Given the description of an element on the screen output the (x, y) to click on. 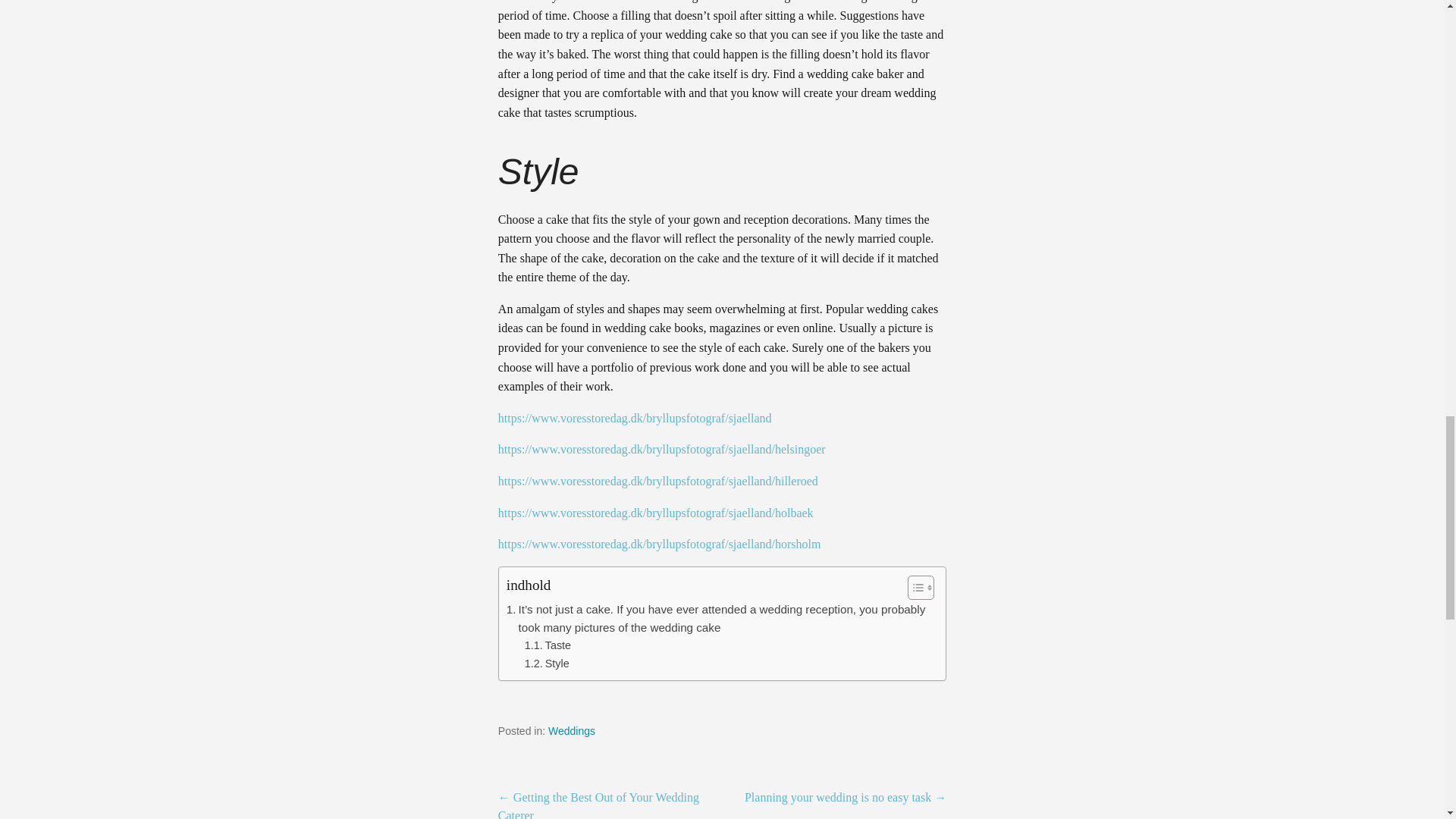
Weddings (571, 730)
Style (546, 663)
Taste (547, 645)
Style (546, 663)
Taste (547, 645)
